Given the description of an element on the screen output the (x, y) to click on. 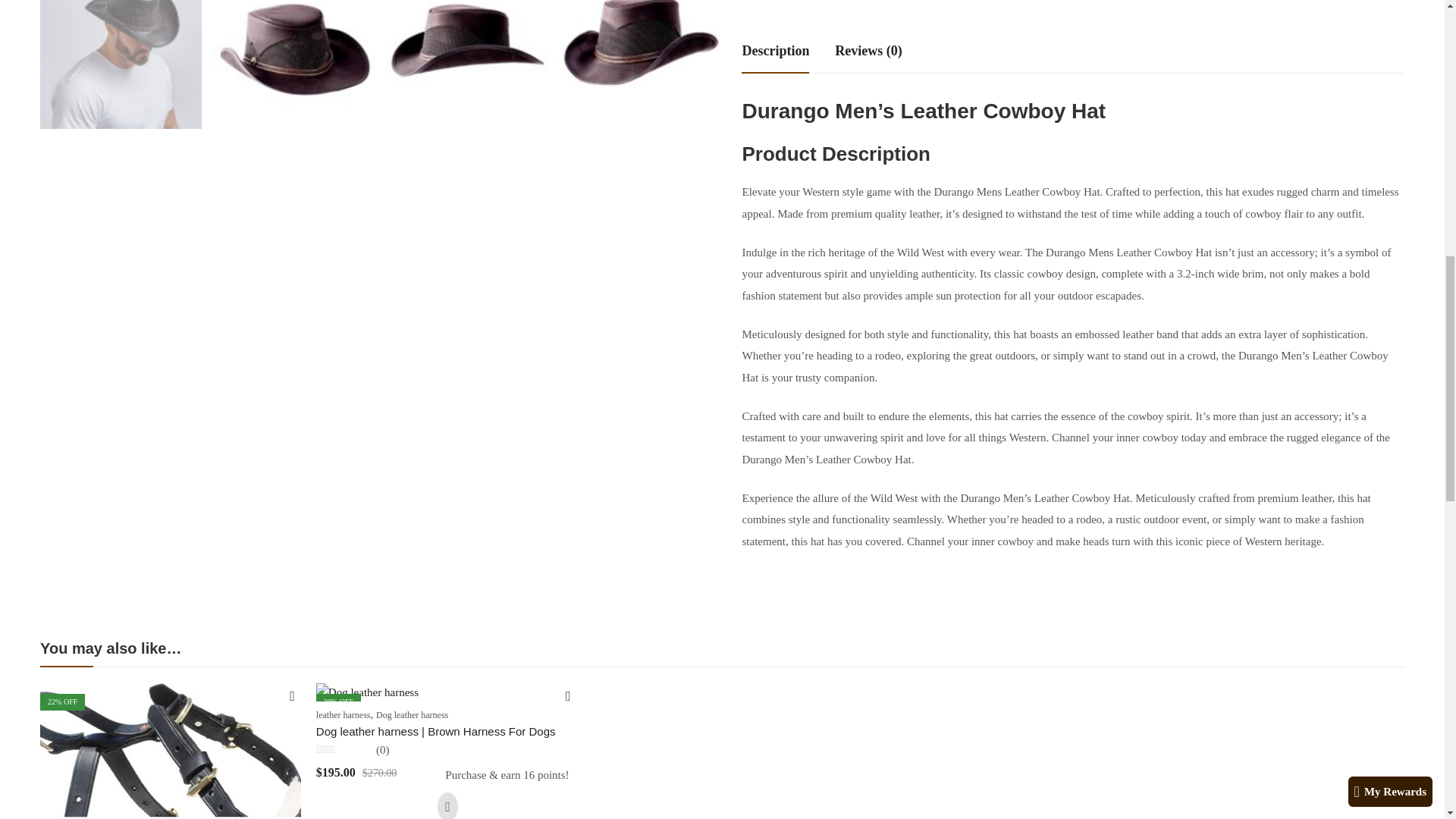
WLG-230173 (121, 64)
WLG-230173 (466, 64)
WLG-230173 (639, 64)
WLG-230173 (294, 64)
